Given the description of an element on the screen output the (x, y) to click on. 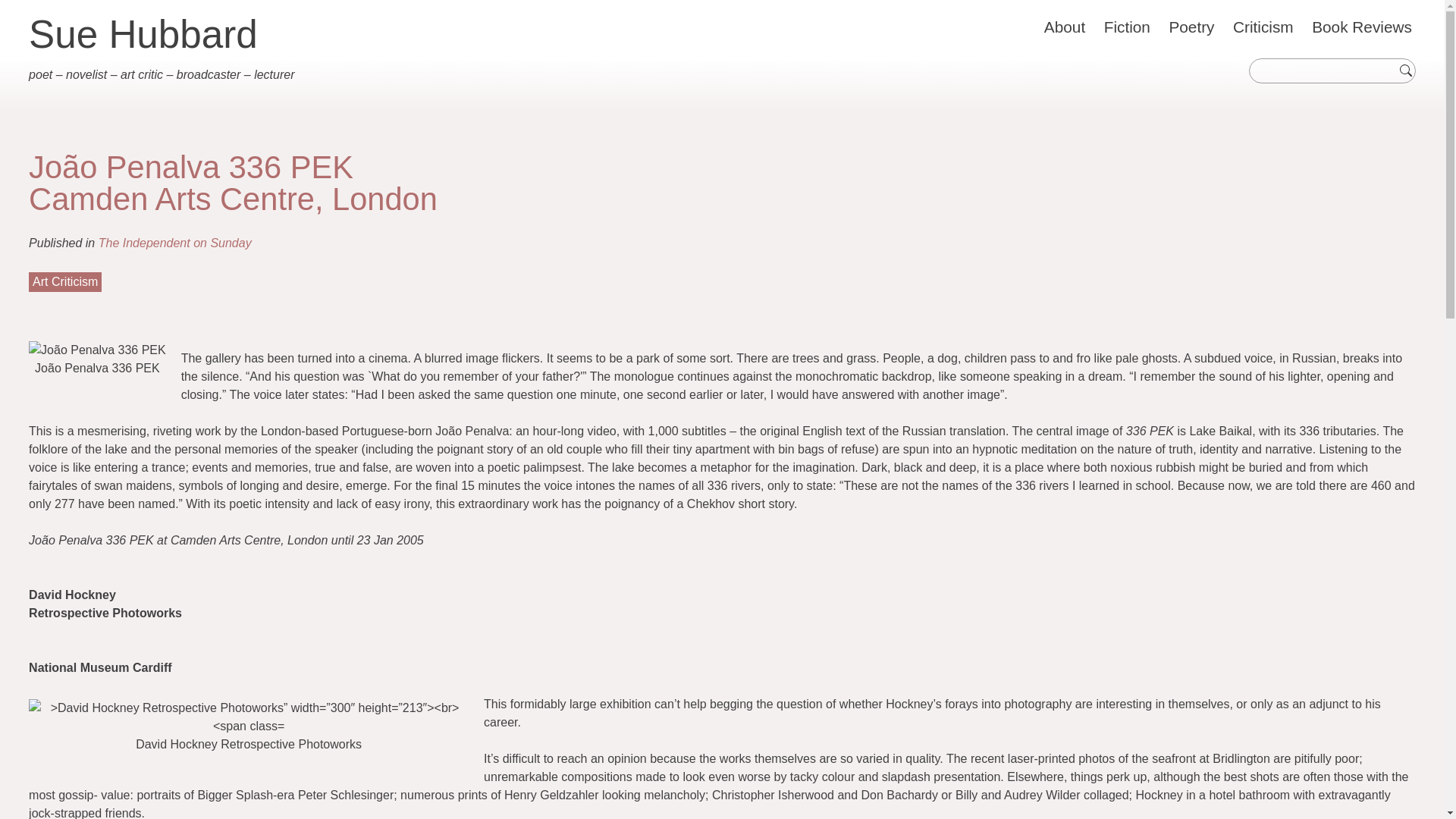
Fiction (1127, 26)
About (1065, 26)
Poetry (1190, 26)
Sue Hubbard (143, 34)
Book Reviews (1361, 26)
The Independent on Sunday (175, 242)
Search for: (1327, 71)
Criticism (1262, 26)
